Given the description of an element on the screen output the (x, y) to click on. 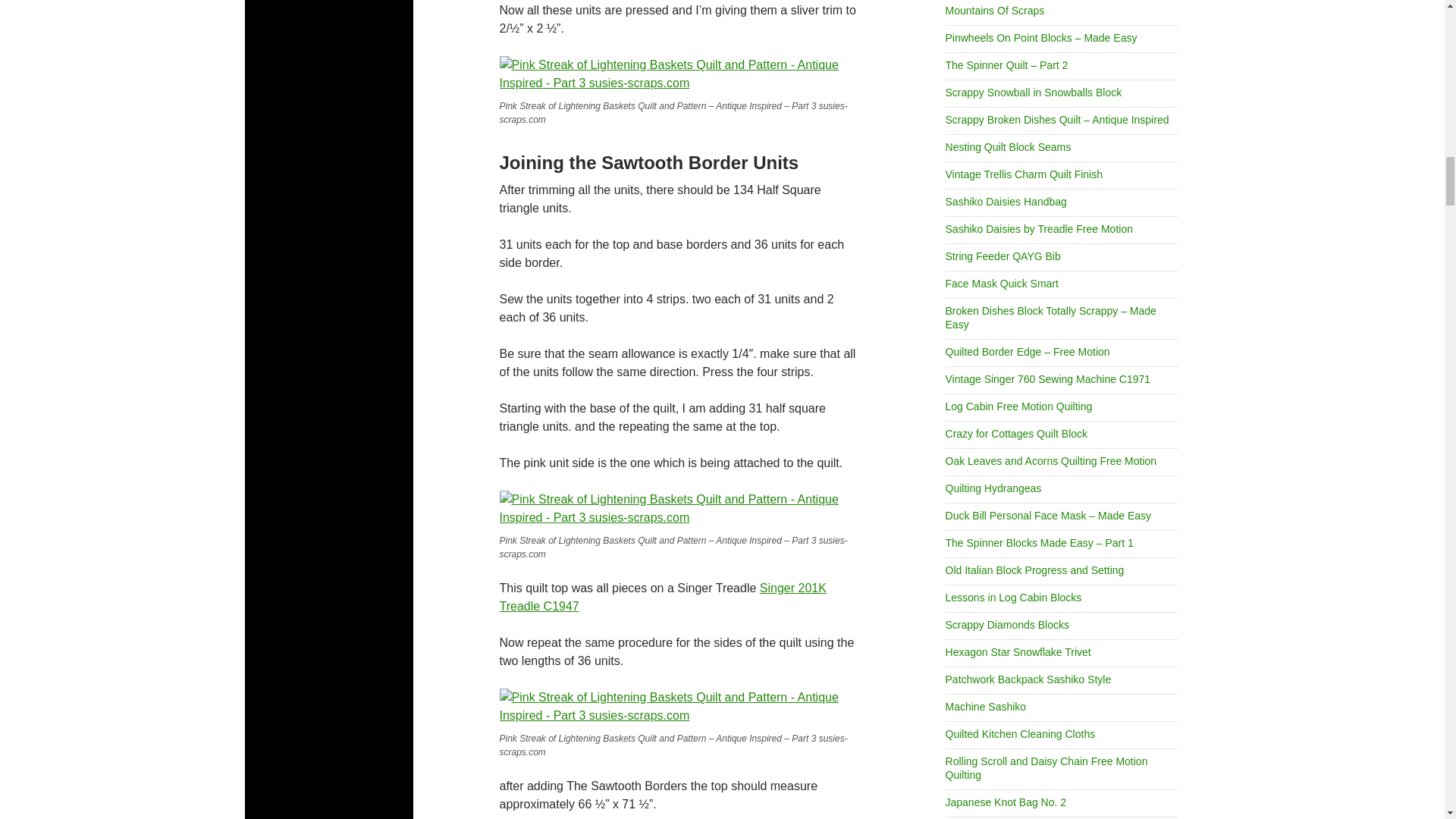
Singer 201K Treadle C1947 (662, 596)
